Given the description of an element on the screen output the (x, y) to click on. 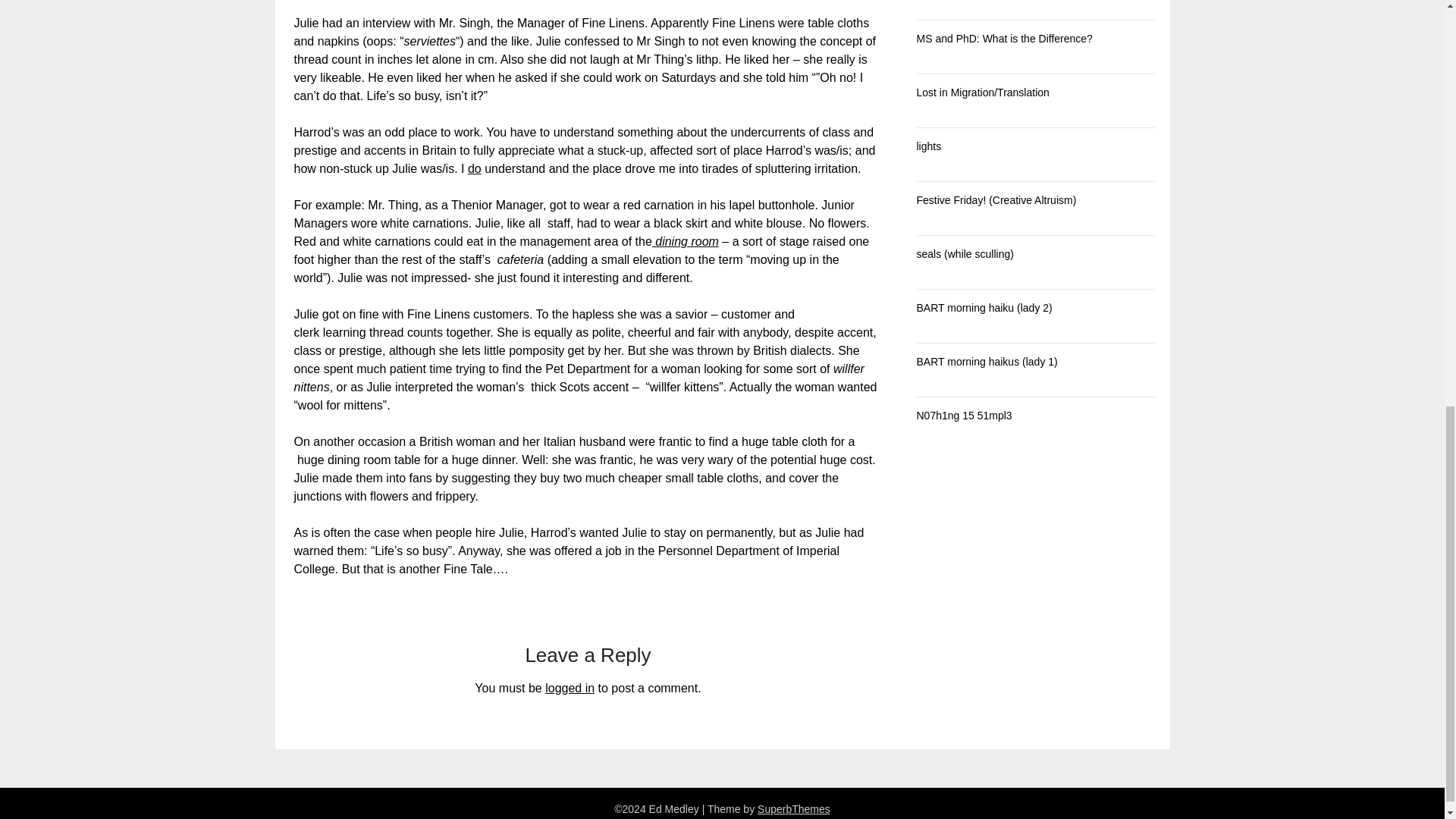
SuperbThemes (793, 808)
MS and PhD: What is the Difference? (1003, 38)
Permalink to MS and PhD: What is the Difference? (1003, 38)
logged in (569, 687)
lights (927, 146)
Permalink to lights (927, 146)
Permalink to N07h1ng 15 51mpl3 (963, 415)
N07h1ng 15 51mpl3 (963, 415)
